Given the description of an element on the screen output the (x, y) to click on. 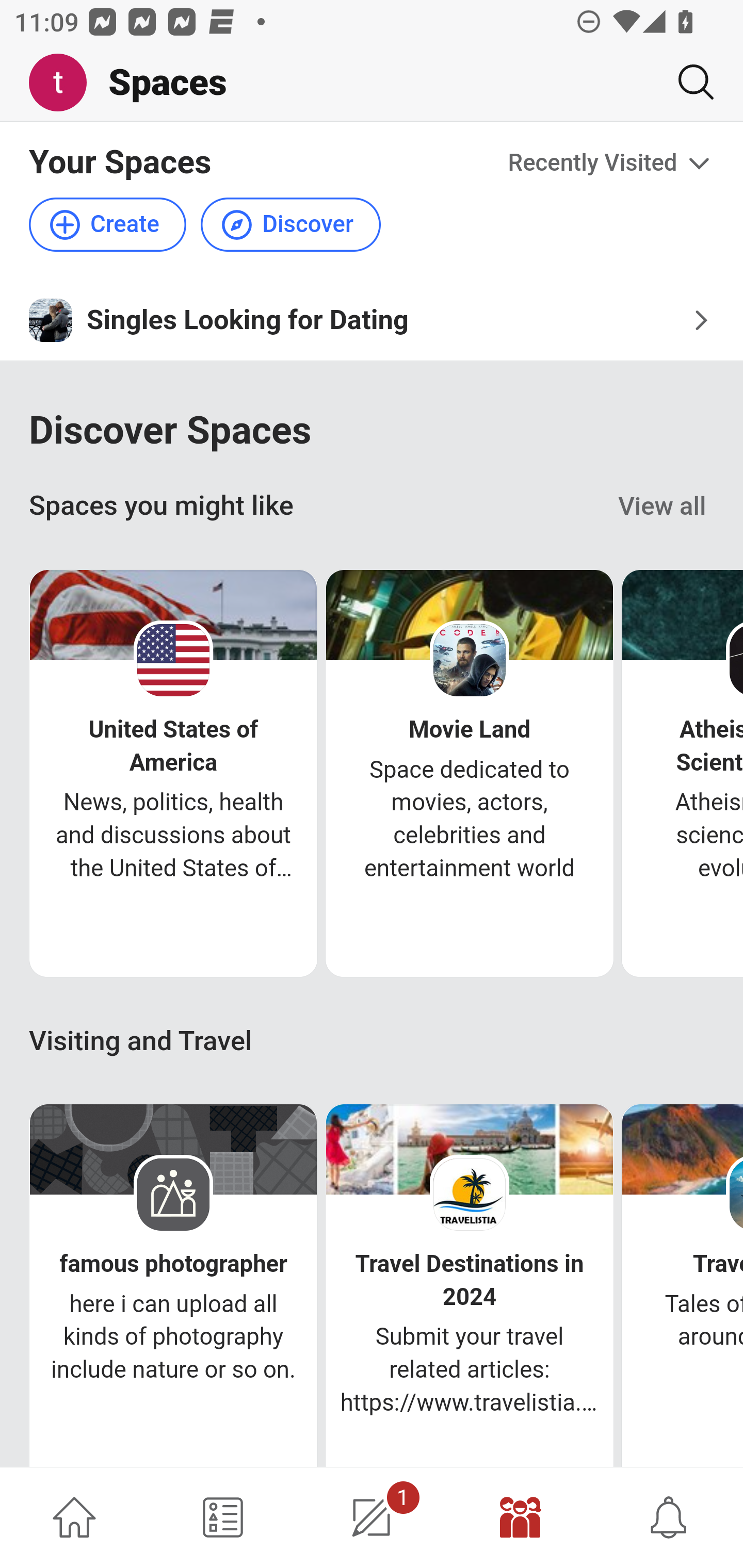
Me (64, 83)
Search (688, 82)
Recently Visited (610, 162)
Create (107, 224)
Discover (289, 224)
View all (662, 506)
United States of America (173, 745)
Movie Land (469, 729)
famous photographer (173, 1263)
Travel Destinations in 2024 (469, 1279)
1 (371, 1517)
